Given the description of an element on the screen output the (x, y) to click on. 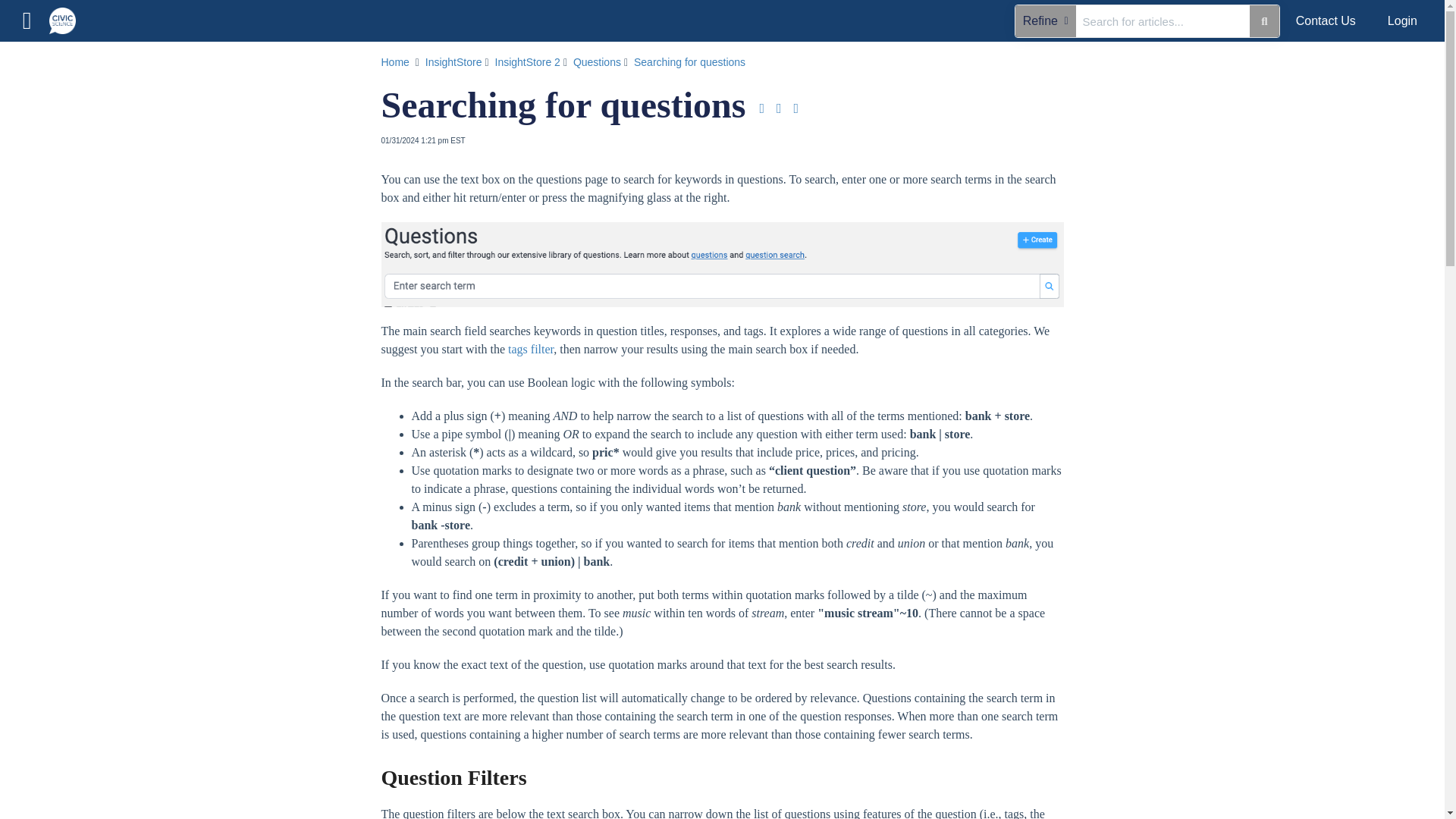
Questions (598, 62)
InsightStore 2 (528, 62)
InsightStore (454, 62)
Search (1163, 20)
Refine search (1044, 20)
Refine (1044, 20)
Home (127, 103)
Contact Us (1325, 20)
Searching for questions (690, 62)
Search (1263, 20)
Refine (35, 61)
Login (1401, 20)
Refine search (35, 61)
Download PDF (761, 108)
Search (147, 61)
